Given the description of an element on the screen output the (x, y) to click on. 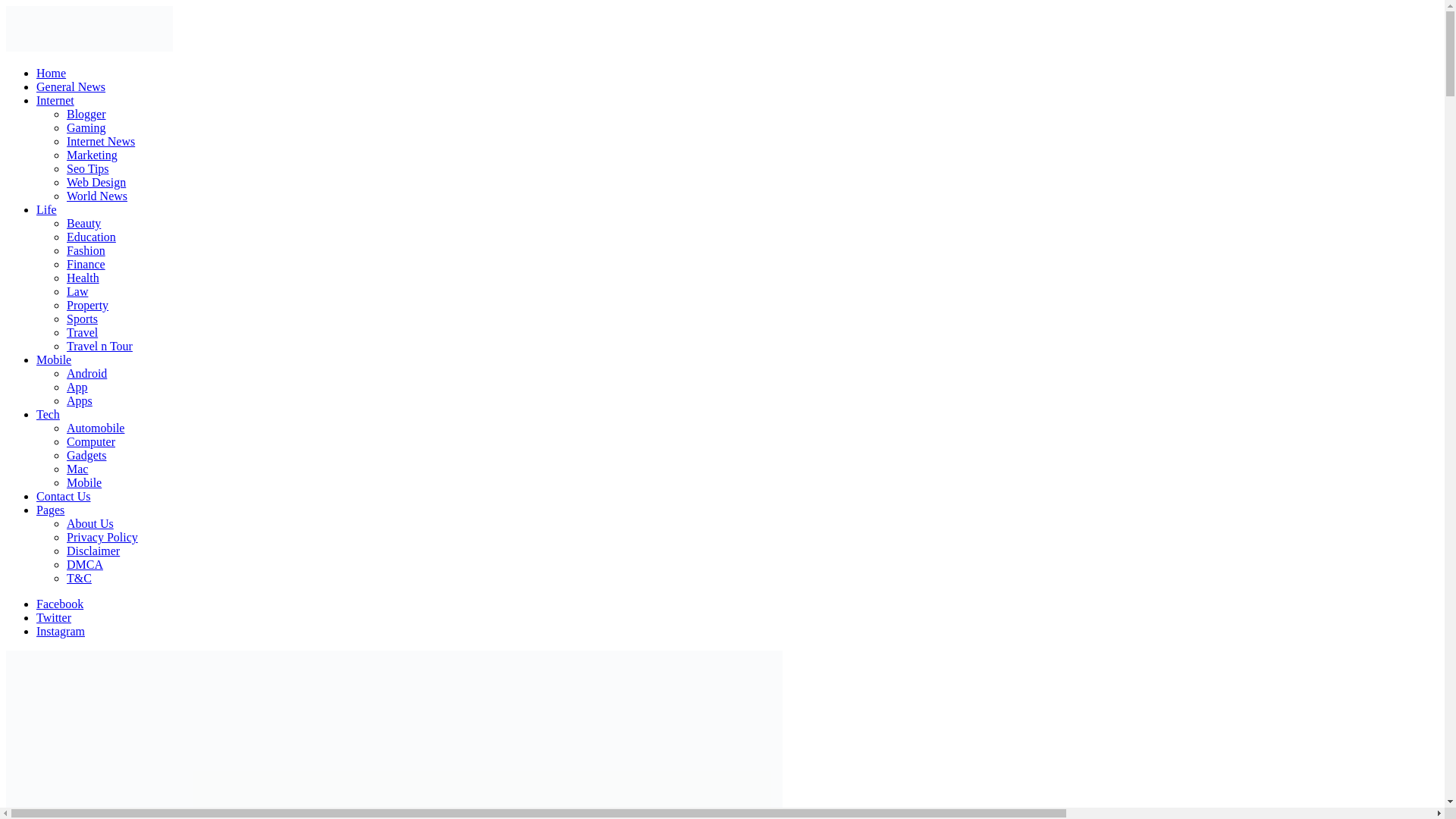
Tech (47, 413)
App (76, 386)
Travel n Tour (99, 345)
DMCA (84, 563)
World News (97, 195)
Mac (76, 468)
Android (86, 373)
Gadgets (86, 454)
Home (50, 72)
Property (86, 305)
